Given the description of an element on the screen output the (x, y) to click on. 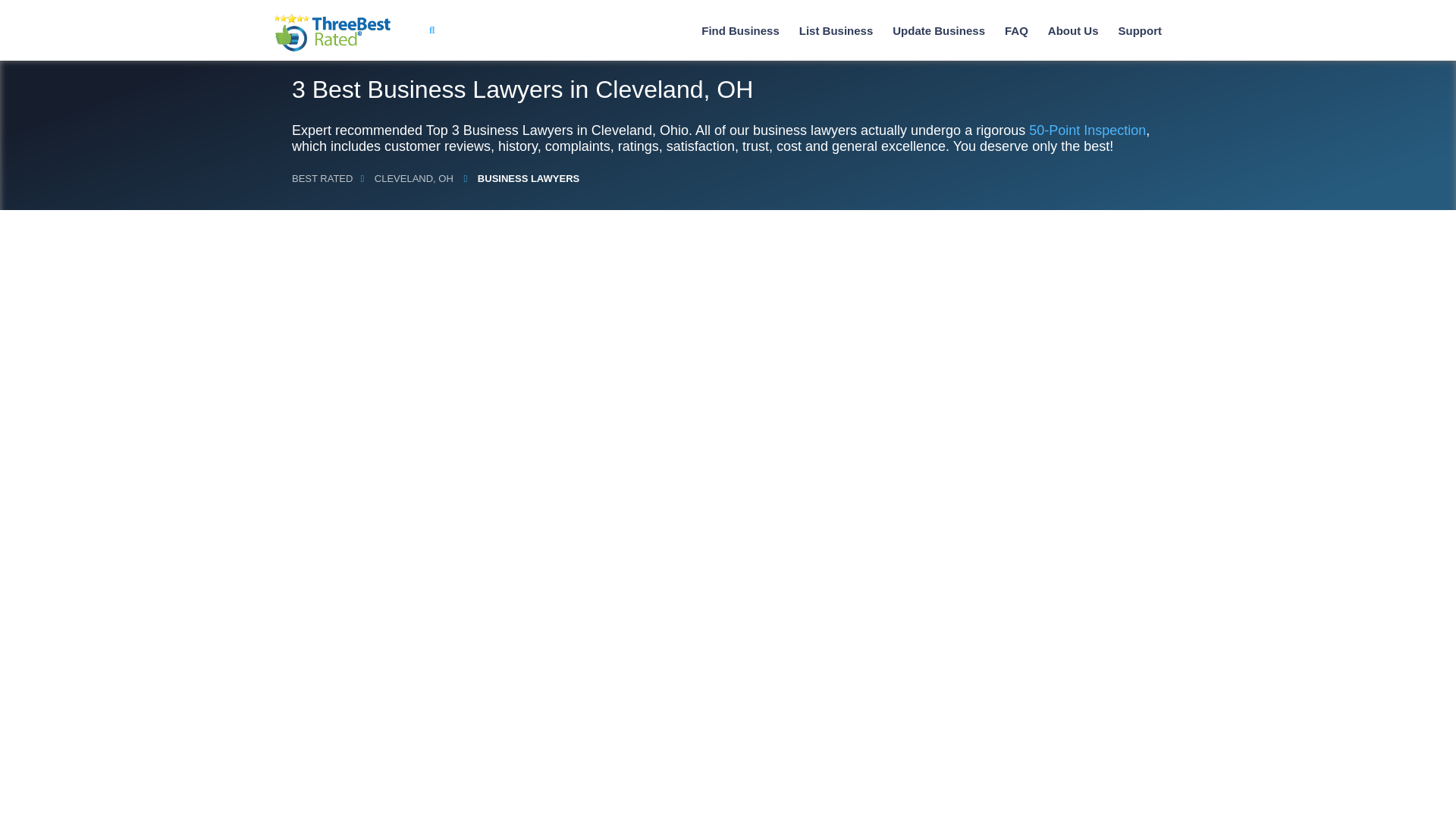
About Us (1073, 30)
Update Business (938, 30)
Support (1139, 30)
List Business (836, 30)
List your business for Free! (836, 30)
ThreeBestRated.com (331, 32)
FAQ (1016, 30)
CLEVELAND, OH (413, 178)
How does Three Best Rated U.S. work? (1073, 30)
50-Point Inspection (1087, 130)
